Given the description of an element on the screen output the (x, y) to click on. 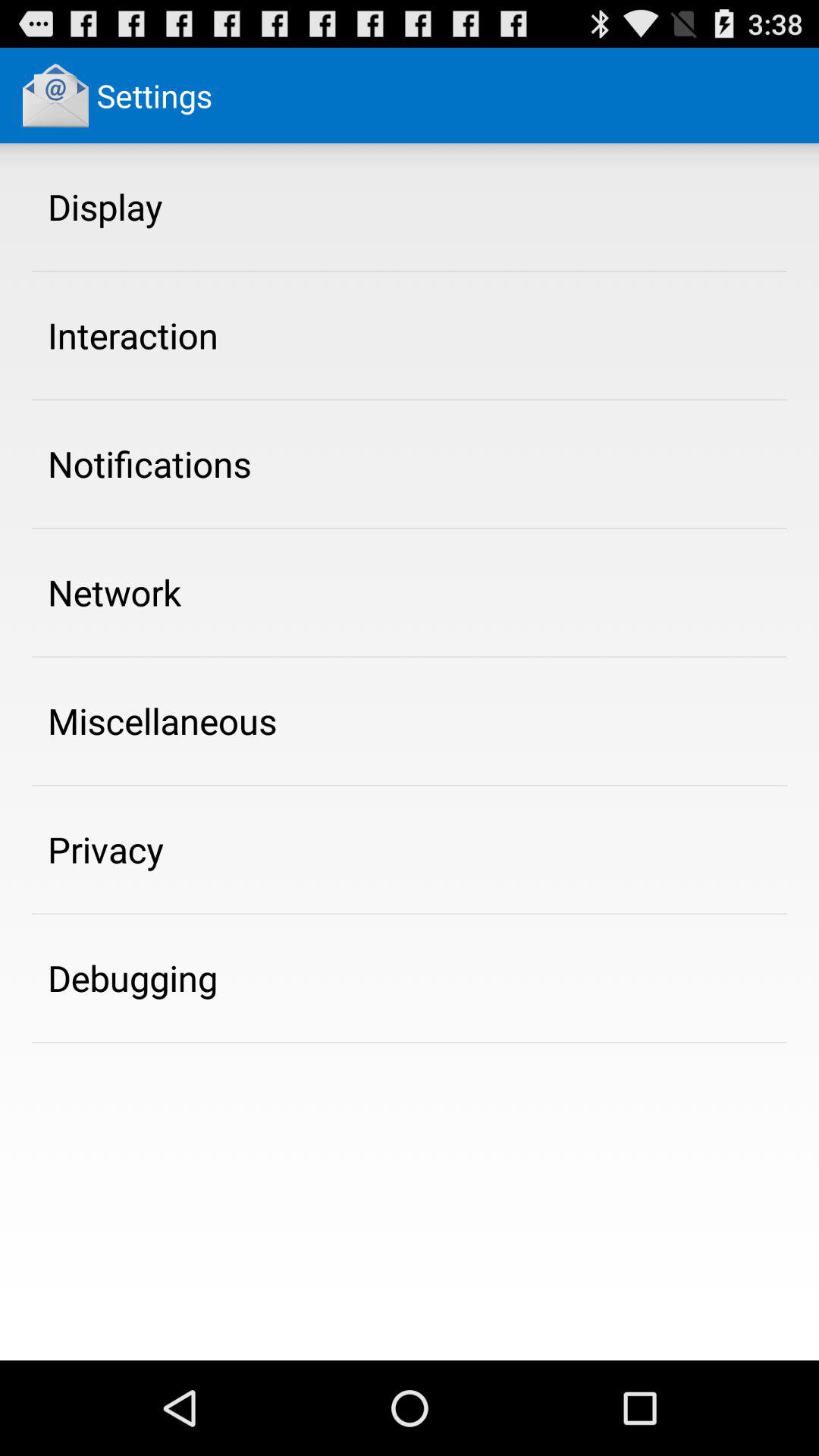
swipe to network app (114, 592)
